Given the description of an element on the screen output the (x, y) to click on. 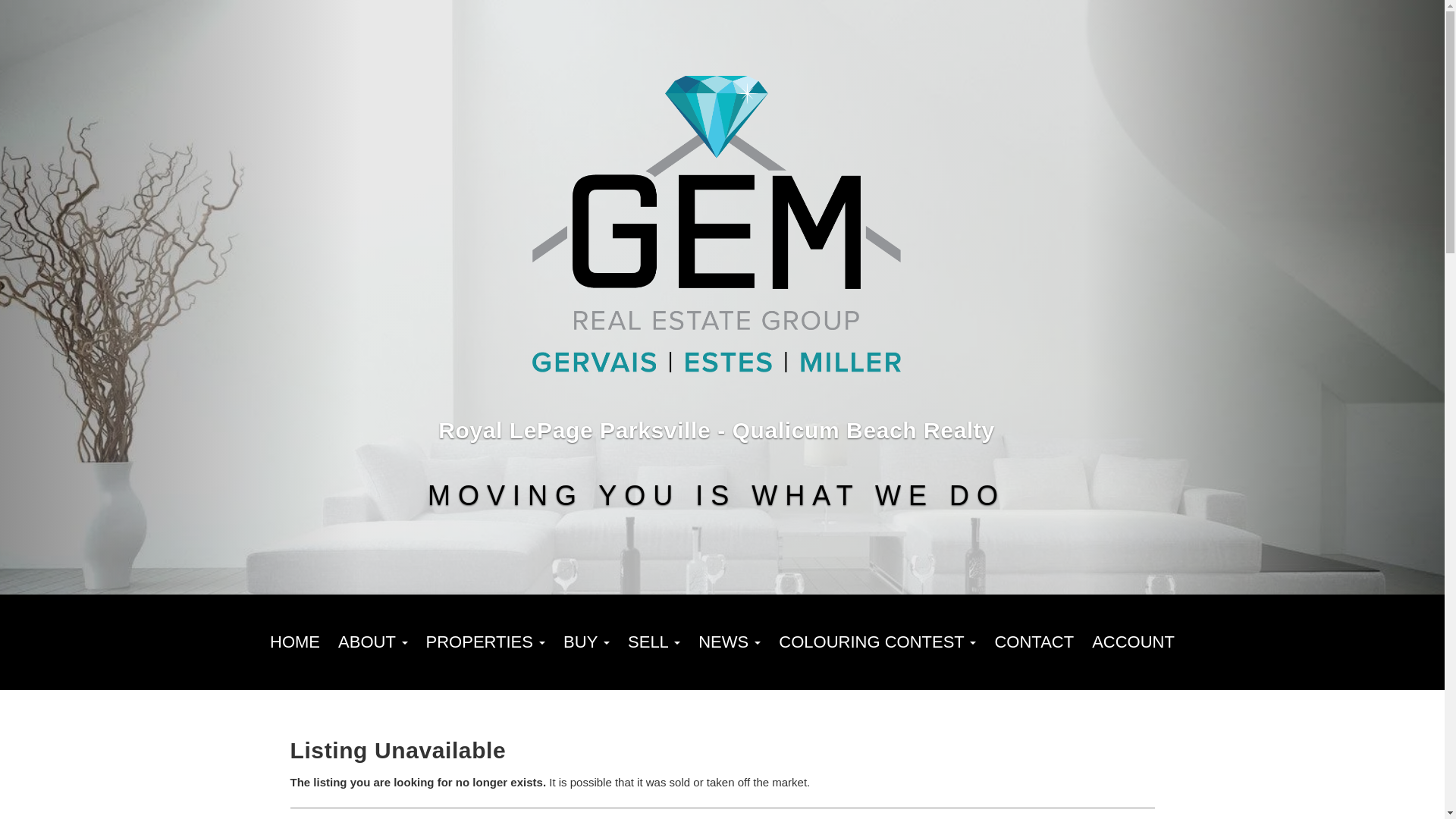
BUY (586, 642)
HOME (294, 642)
ABOUT (372, 642)
PROPERTIES (485, 642)
SELL (653, 642)
COLOURING CONTEST (877, 642)
NEWS (729, 642)
